Given the description of an element on the screen output the (x, y) to click on. 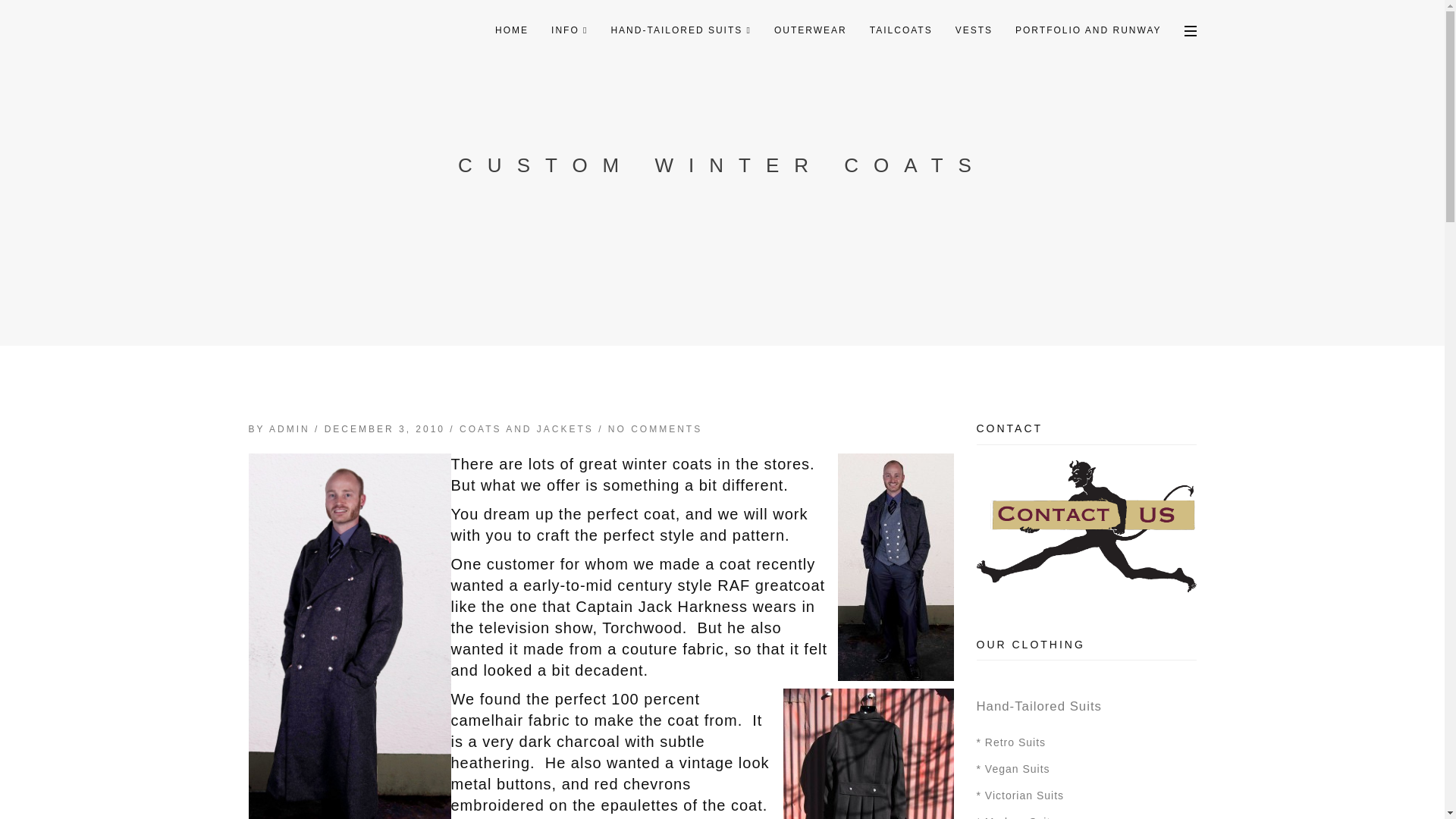
VESTS (973, 30)
OUTERWEAR (810, 30)
PORTFOLIO AND RUNWAY (1088, 30)
INFO (569, 30)
HAND-TAILORED SUITS (680, 30)
ADMIN (289, 429)
HOME (511, 30)
TAILCOATS (901, 30)
